Given the description of an element on the screen output the (x, y) to click on. 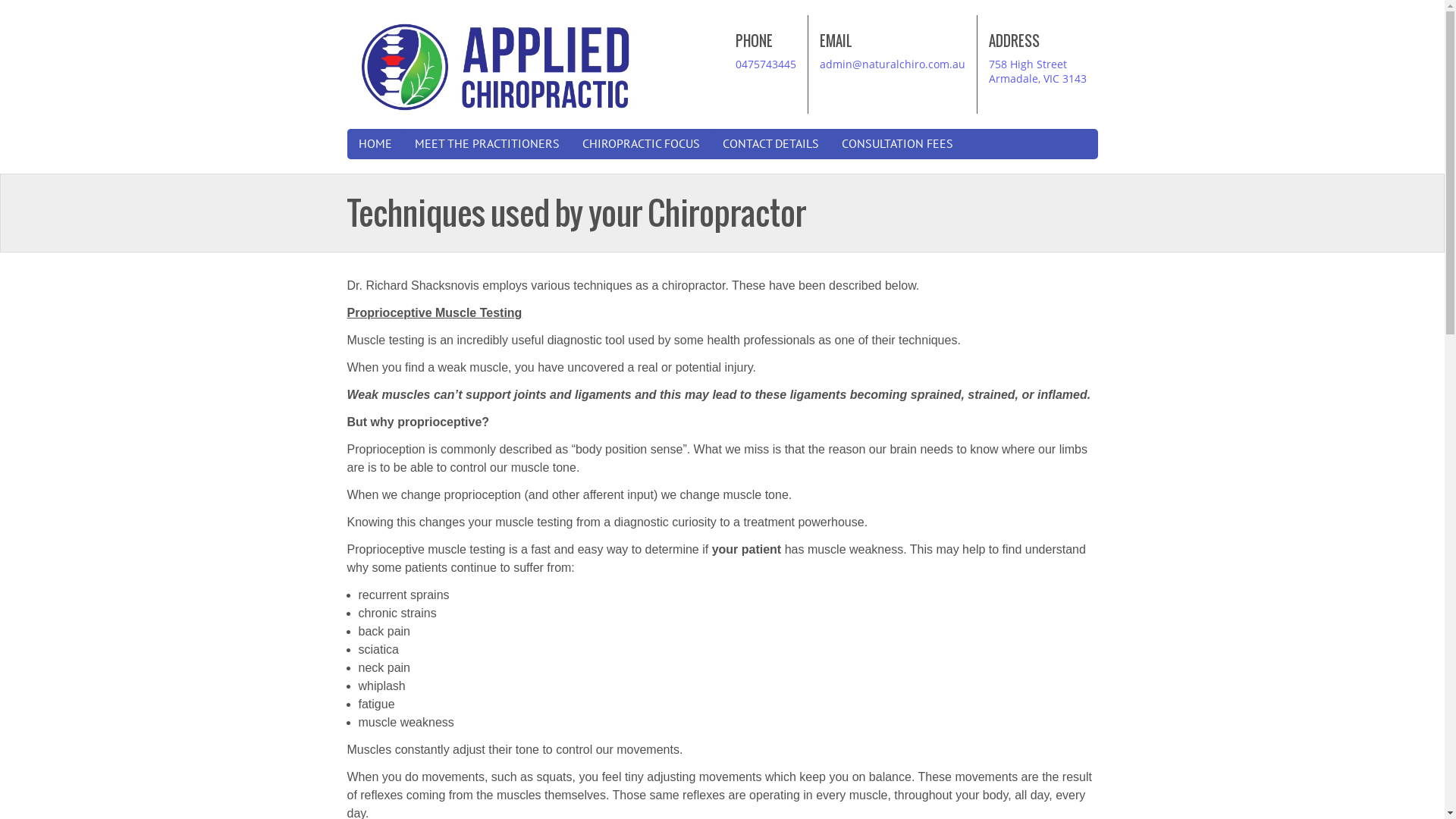
CHIROPRACTIC FOCUS Element type: text (640, 143)
CONSULTATION FEES Element type: text (896, 143)
MEET THE PRACTITIONERS Element type: text (487, 143)
HOME Element type: text (375, 143)
admin@naturalchiro.com.au Element type: text (891, 63)
0475743445 Element type: text (765, 63)
CONTACT DETAILS Element type: text (770, 143)
